Given the description of an element on the screen output the (x, y) to click on. 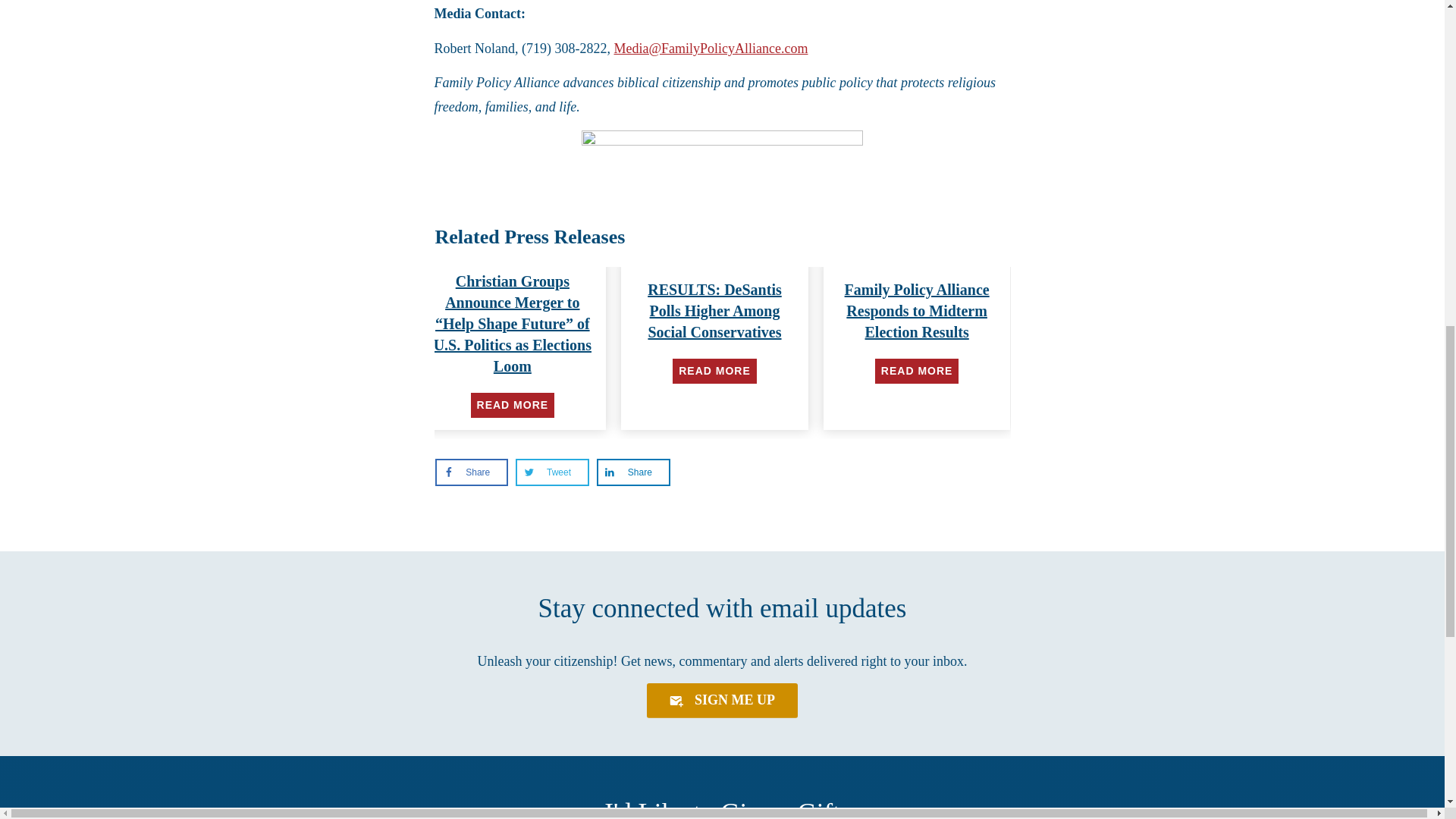
Family Policy Alliance Responds to Midterm Election Results (917, 310)
RESULTS: DeSantis Polls Higher Among Social Conservatives (714, 310)
